Given the description of an element on the screen output the (x, y) to click on. 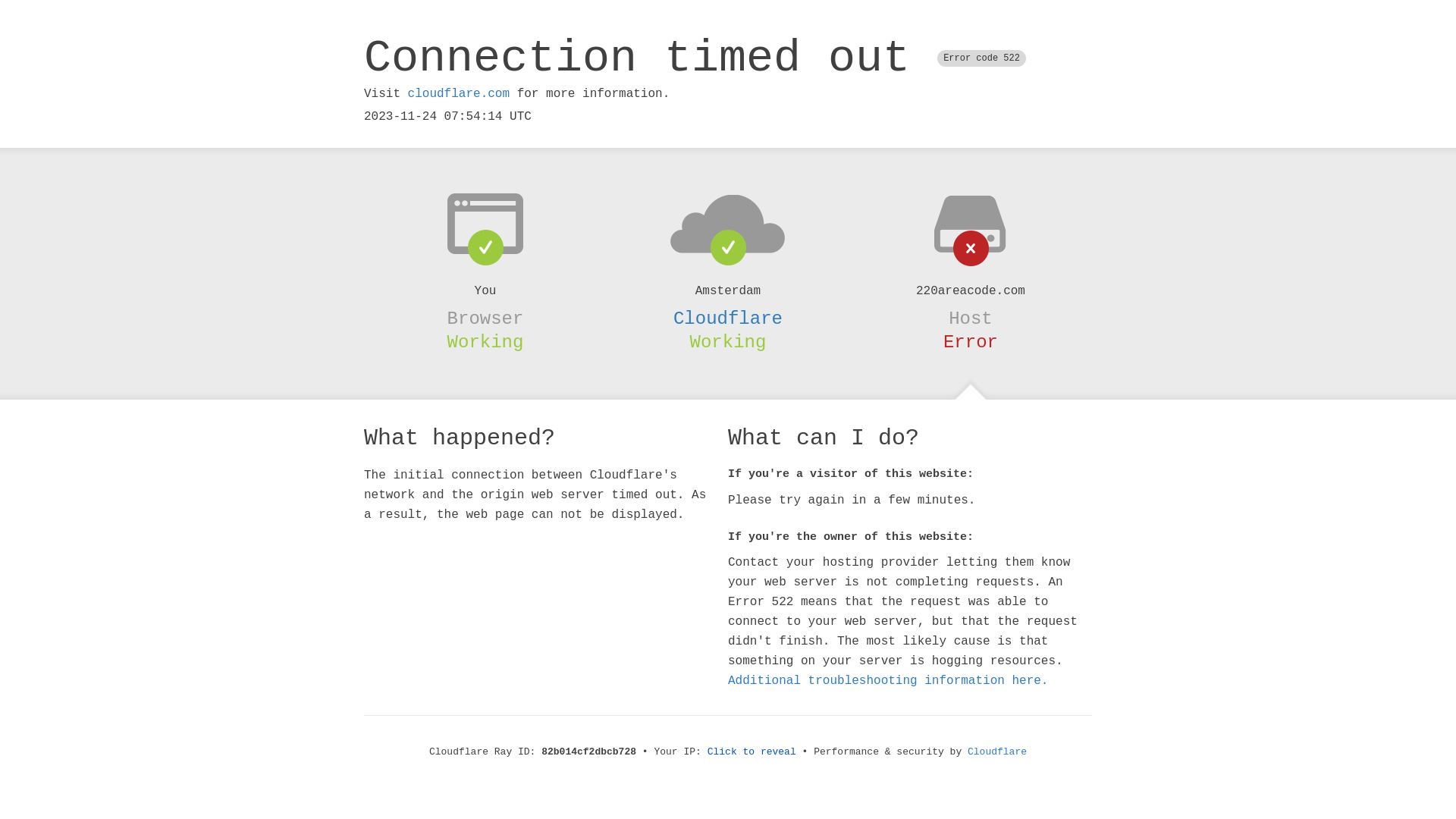
cloudflare.com Element type: text (458, 93)
Cloudflare Element type: text (727, 318)
Cloudflare Element type: text (996, 751)
Click to reveal Element type: text (751, 751)
Additional troubleshooting information here. Element type: text (888, 680)
